Given the description of an element on the screen output the (x, y) to click on. 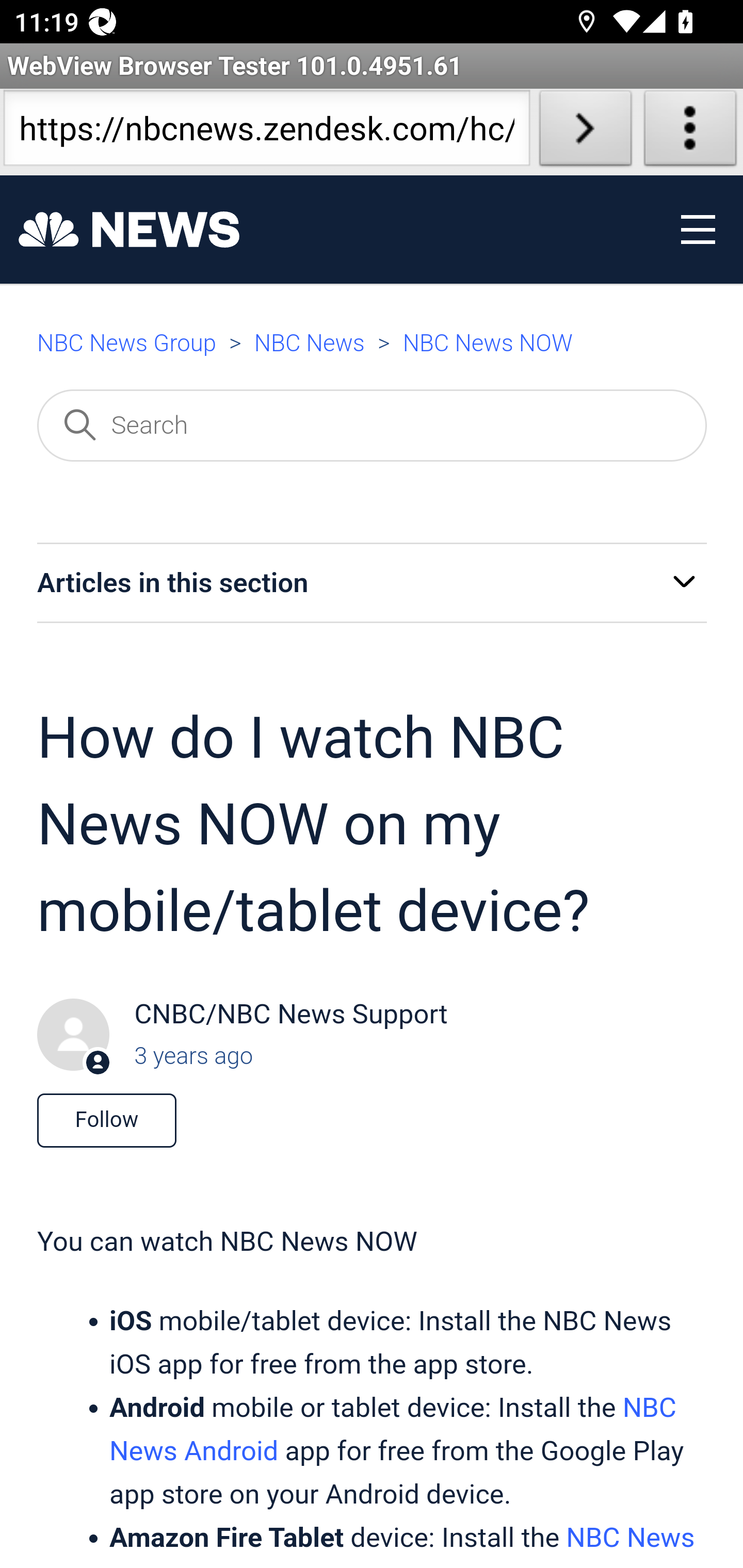
Load URL (585, 132)
About WebView (690, 132)
?icid=nav_bar_logo (128, 230)
sharer (230, 336)
mailto:?subject=&body=null (389, 336)
NBC News Group (126, 343)
NBC News (309, 343)
NBC News NOW (487, 343)
Articles in this section (372, 583)
Articles in this section (684, 584)
Follow Article Not yet followed by anyone (106, 1119)
NBC News Android (392, 1428)
NBC News Fire Tablet (401, 1543)
